Given the description of an element on the screen output the (x, y) to click on. 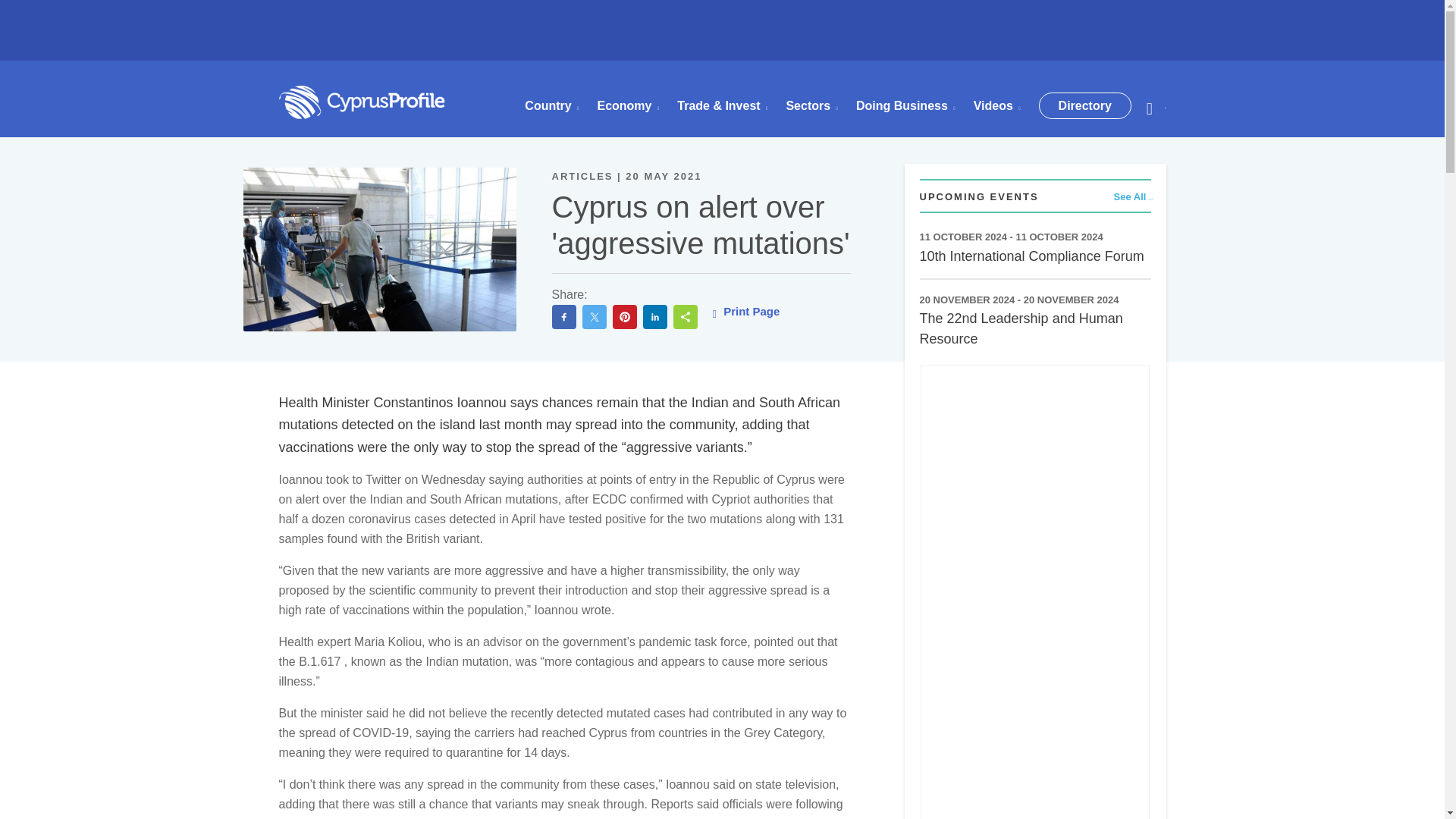
Economy (627, 106)
Cyprus Profile (362, 102)
Country (551, 106)
3rd party ad content (722, 41)
Sectors (811, 106)
